Given the description of an element on the screen output the (x, y) to click on. 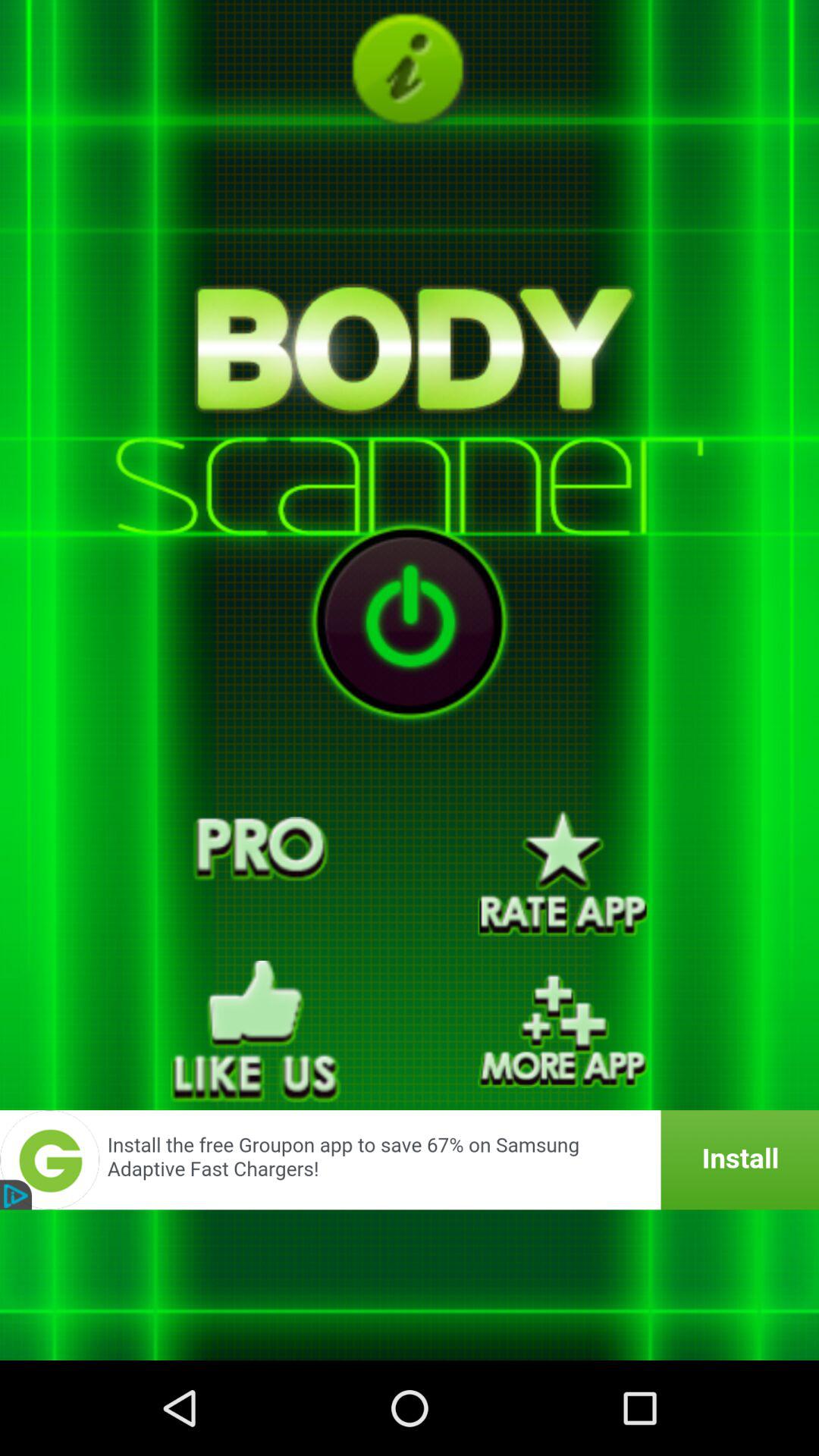
banner advertisement (409, 1159)
